Given the description of an element on the screen output the (x, y) to click on. 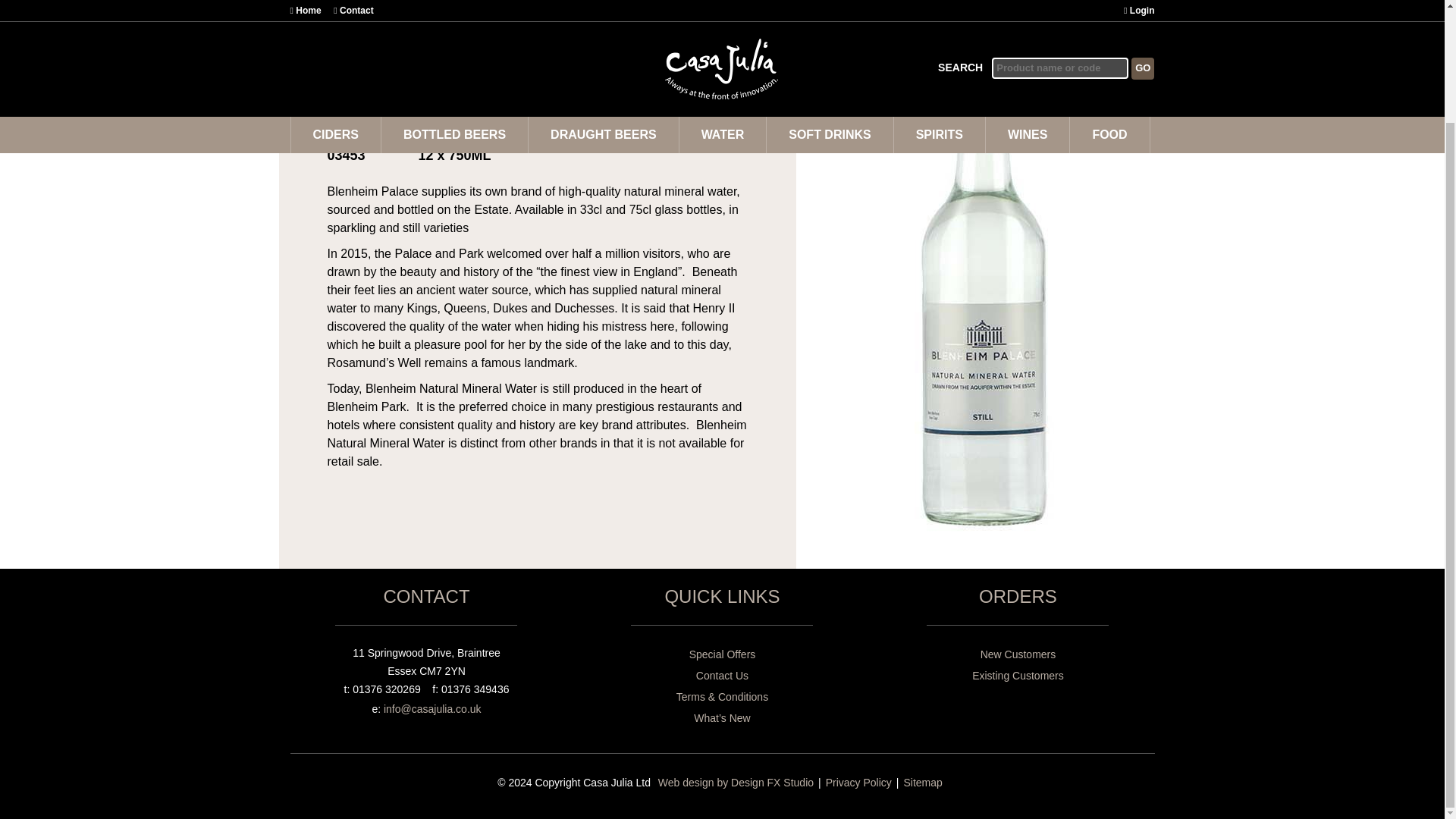
DRAUGHT BEERS (603, 9)
BOTTLED BEERS (454, 9)
CIDERS (334, 9)
